Given the description of an element on the screen output the (x, y) to click on. 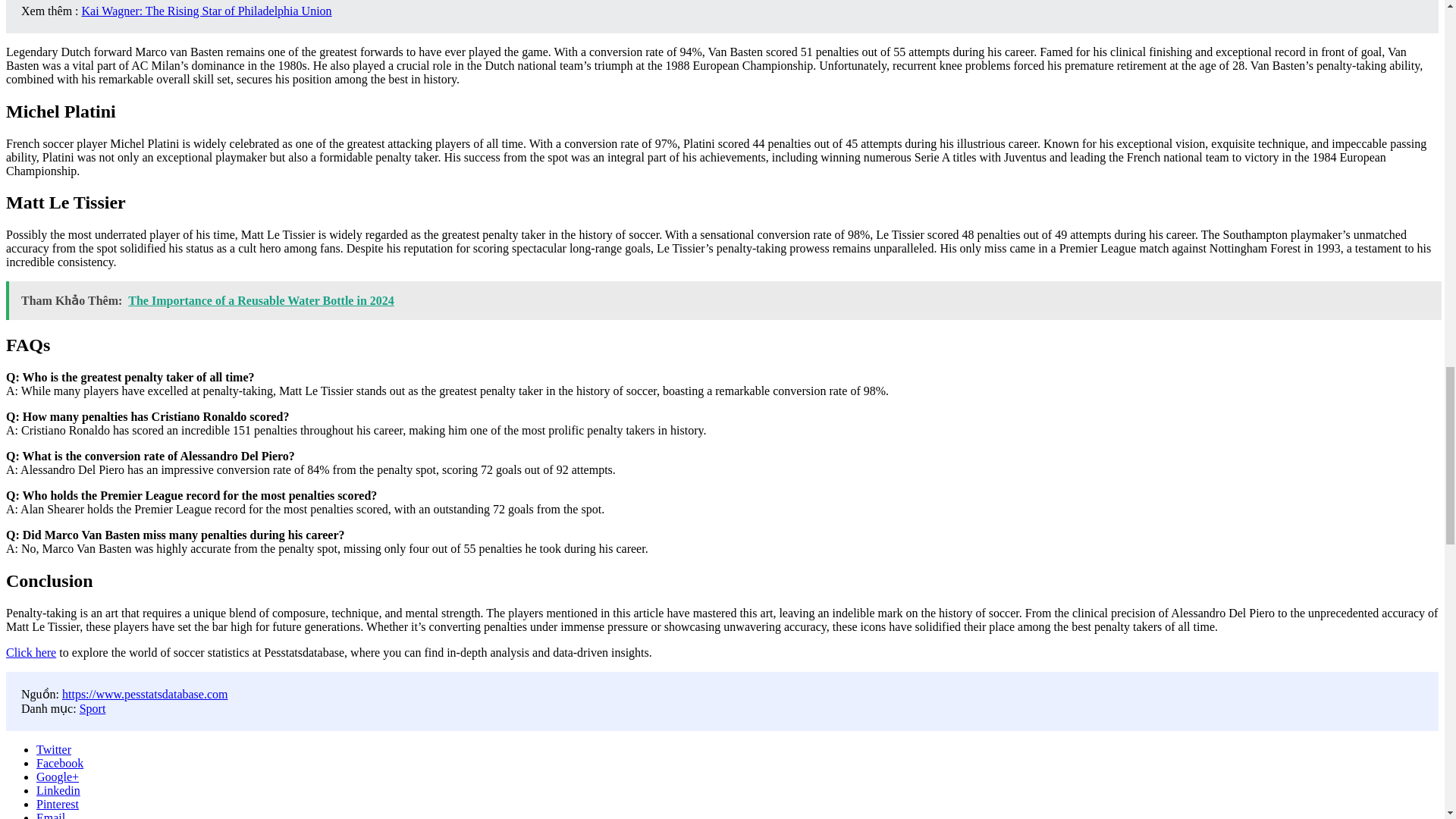
Twitter (53, 748)
Email (50, 815)
Facebook (59, 762)
Pinterest (57, 803)
Click here (30, 652)
Sport (93, 707)
Linkedin (58, 789)
Kai Wagner: The Rising Star of Philadelphia Union (206, 10)
